Given the description of an element on the screen output the (x, y) to click on. 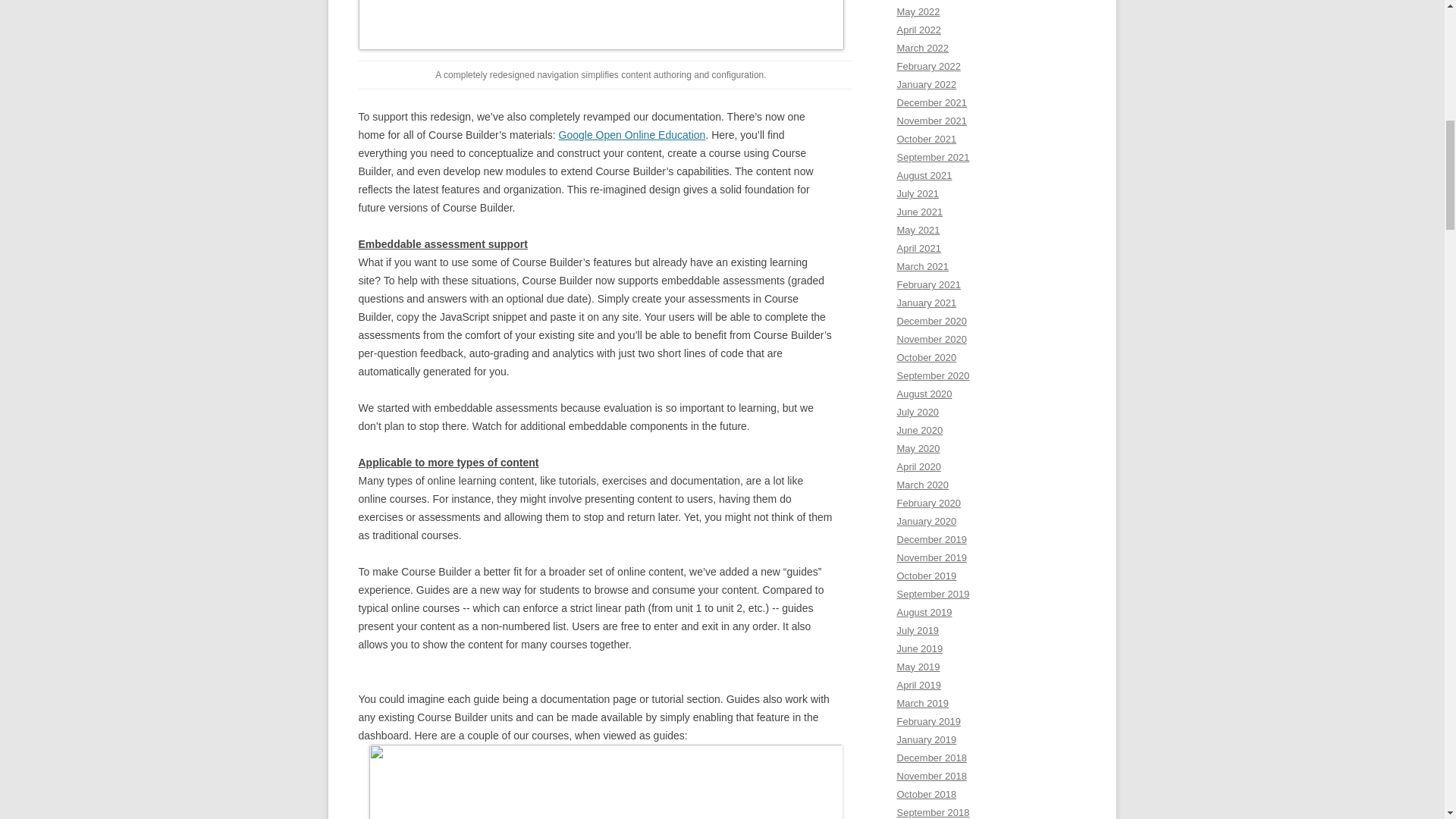
Google Open Online Education (632, 134)
